Given the description of an element on the screen output the (x, y) to click on. 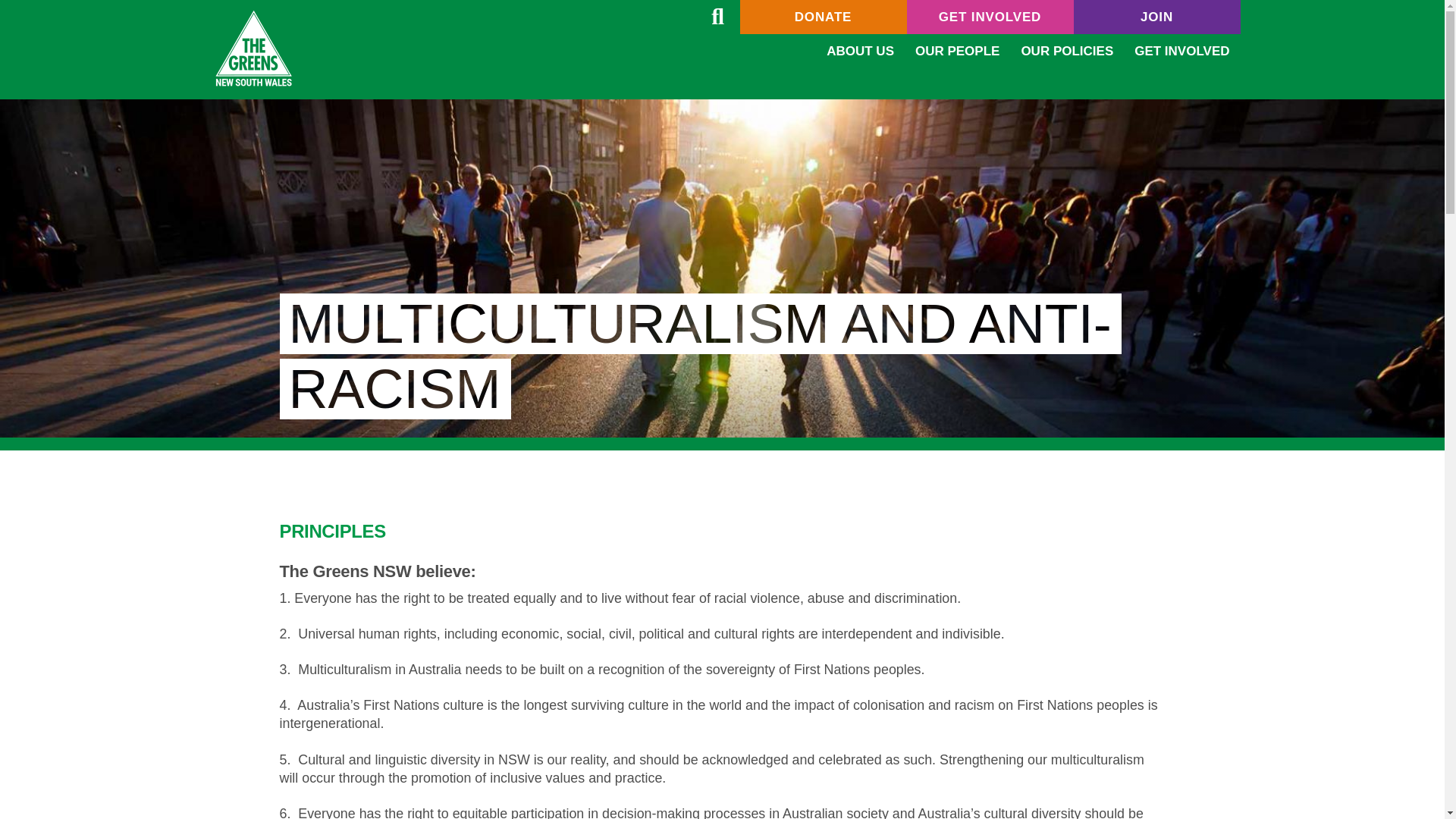
GET INVOLVED (1182, 50)
ABOUT US (859, 50)
GET INVOLVED (990, 17)
DONATE (823, 17)
OUR POLICIES (1067, 50)
OUR PEOPLE (957, 50)
JOIN (1157, 17)
Search (716, 17)
